Given the description of an element on the screen output the (x, y) to click on. 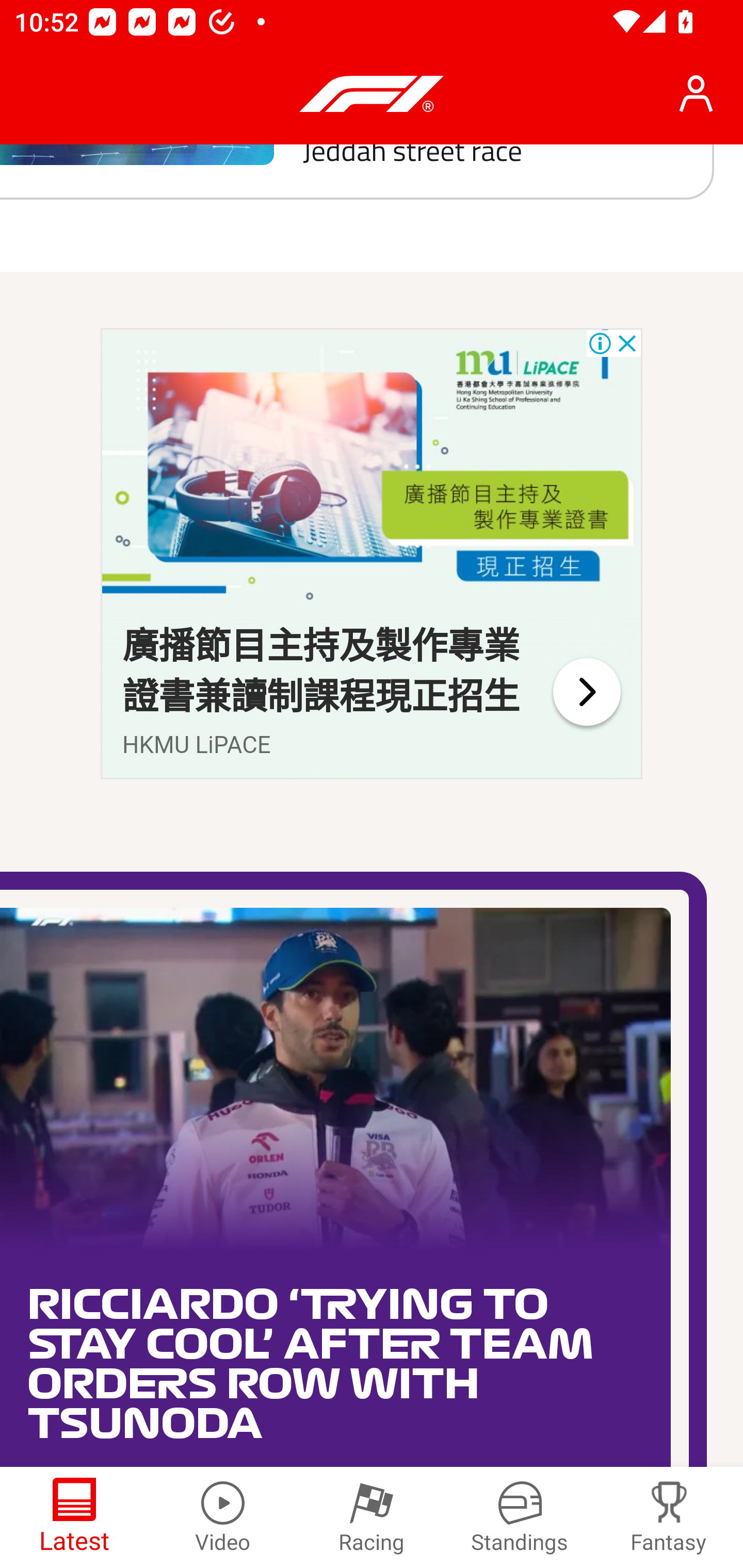
%3Flce%3DGDN_B2023_01 (371, 472)
廣播節目主持及製作專業 證書兼讀制課程現正招生 廣播節目主持及製作專業 證書兼讀制課程現正招生 (321, 671)
%3Flce%3DGDN_B2023_01 (586, 690)
HKMU LiPACE (196, 744)
Video (222, 1517)
Racing (371, 1517)
Standings (519, 1517)
Fantasy (668, 1517)
